Given the description of an element on the screen output the (x, y) to click on. 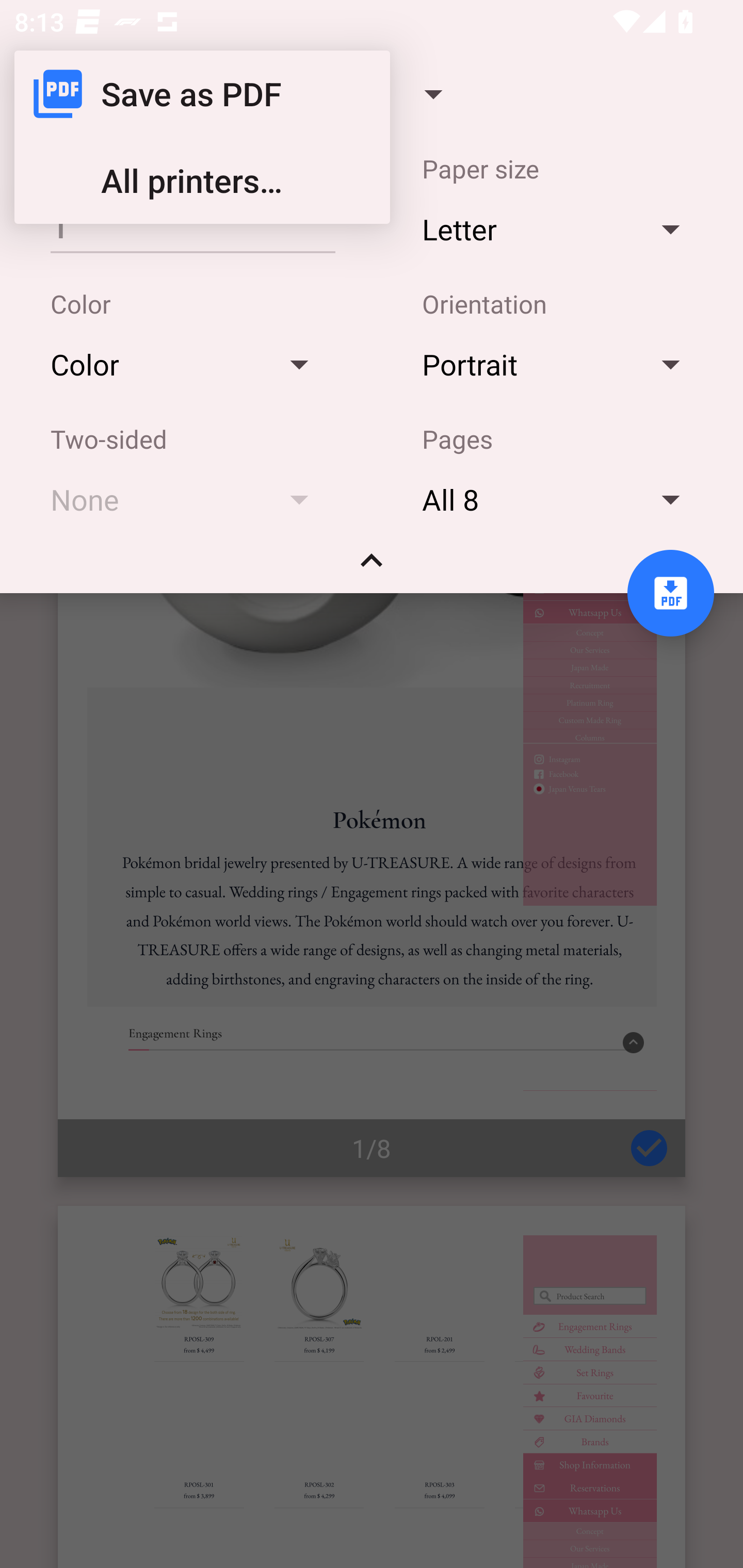
Save as PDF (202, 93)
All printers… (202, 180)
